Given the description of an element on the screen output the (x, y) to click on. 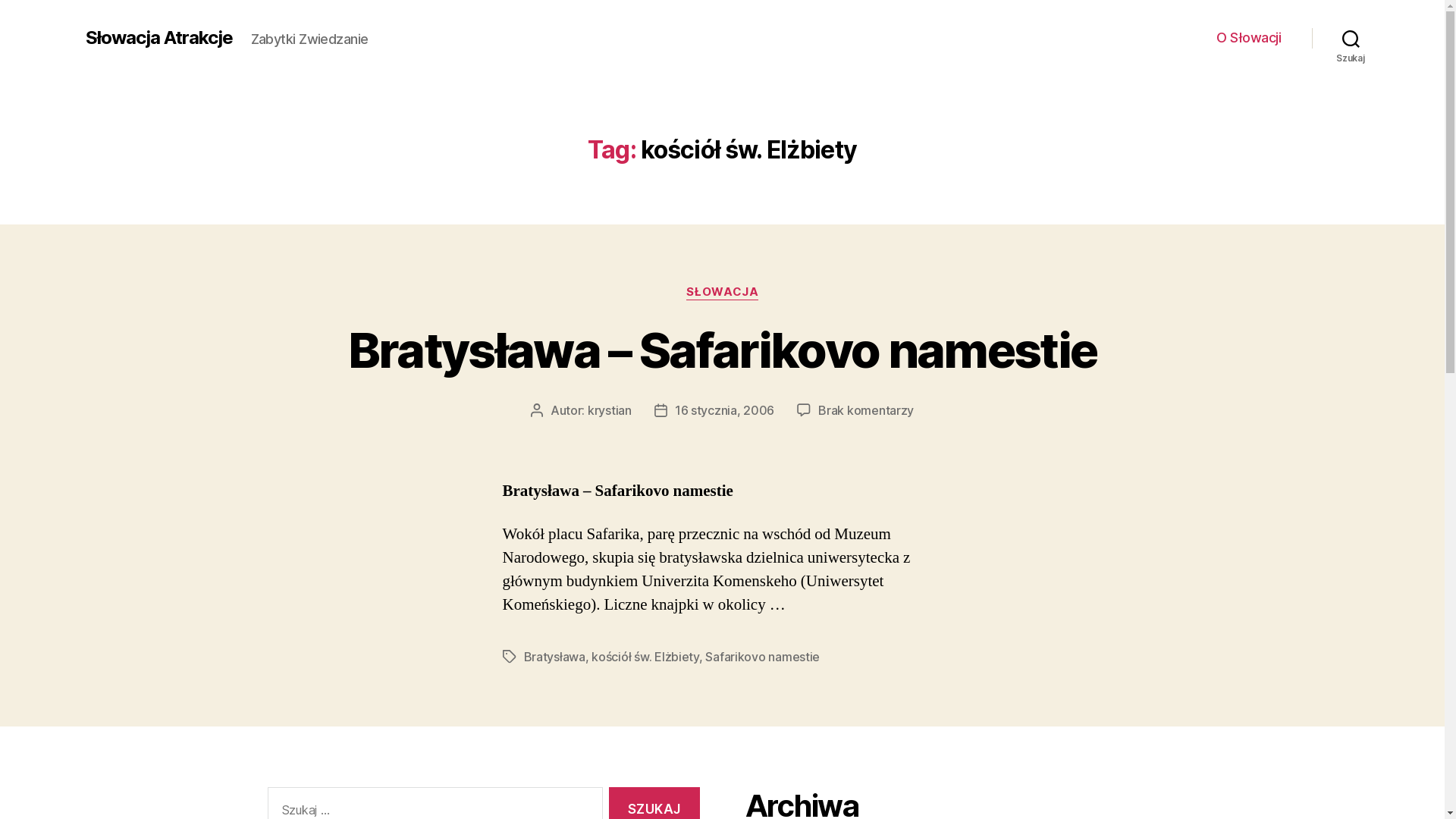
Safarikovo namestie Element type: text (762, 656)
Szukaj Element type: text (1350, 37)
krystian Element type: text (609, 409)
16 stycznia, 2006 Element type: text (724, 409)
